Given the description of an element on the screen output the (x, y) to click on. 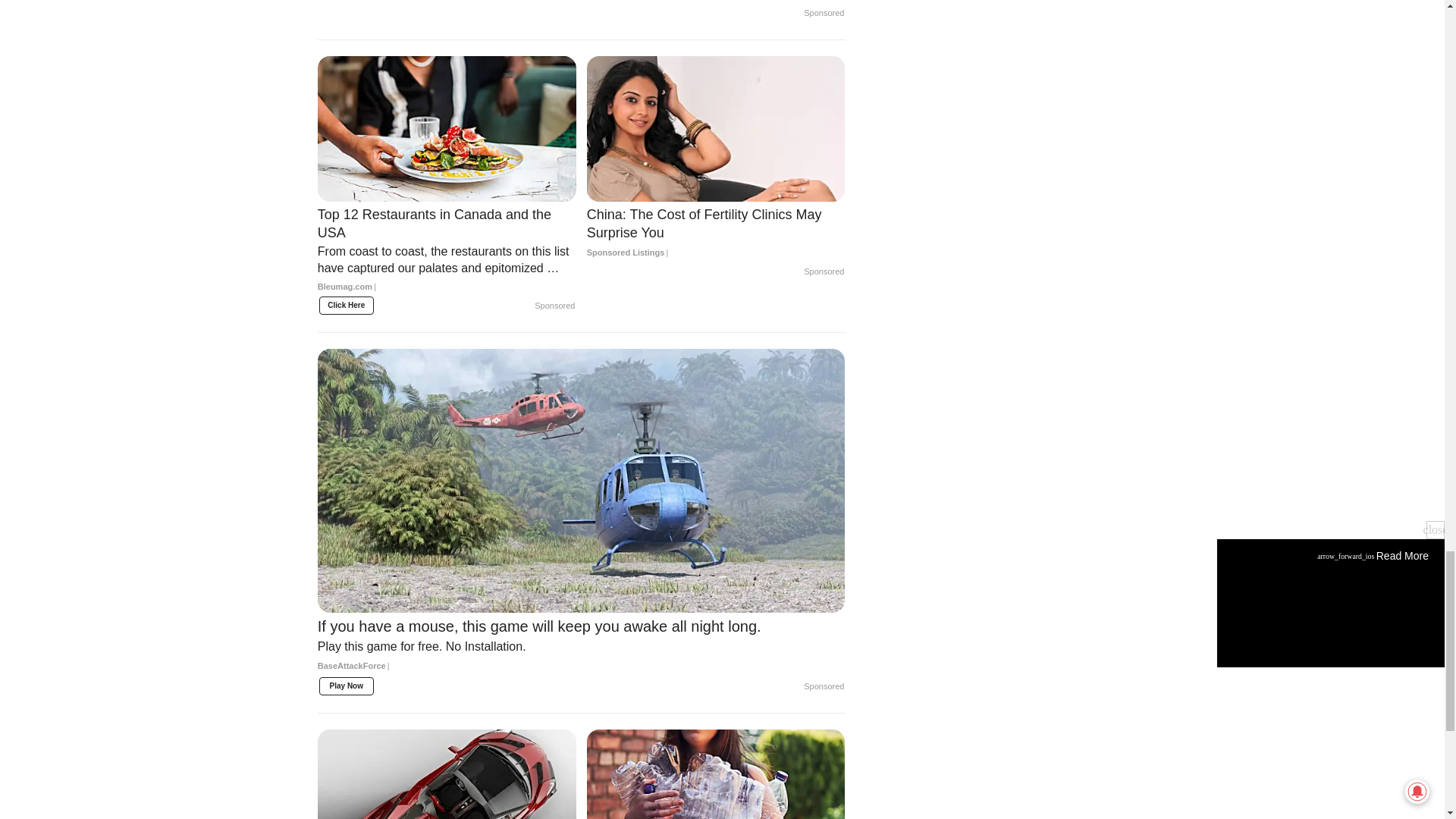
Top 12 Restaurants in Canada and the USA (446, 257)
